Given the description of an element on the screen output the (x, y) to click on. 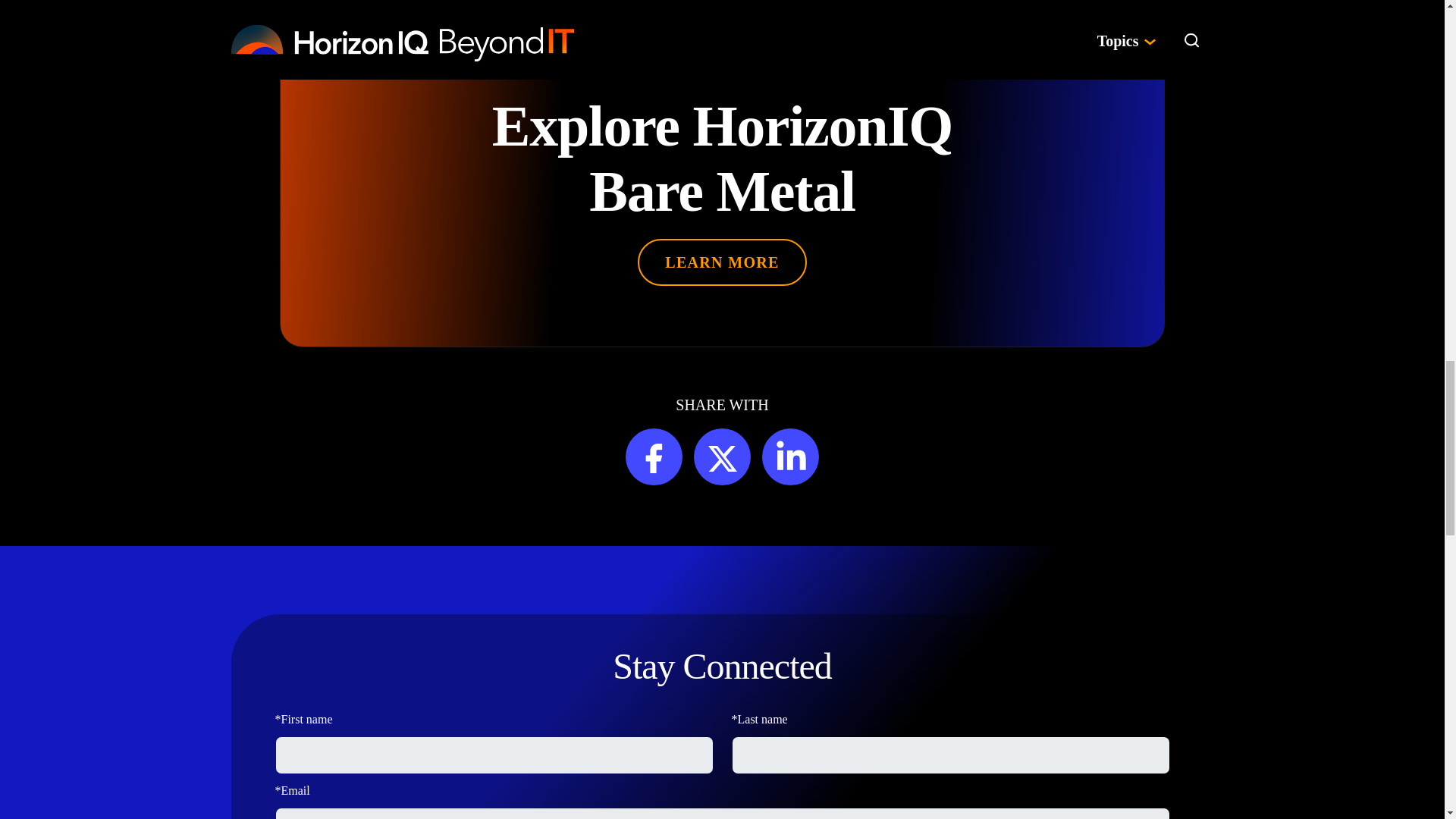
LEARN MORE (721, 261)
